Given the description of an element on the screen output the (x, y) to click on. 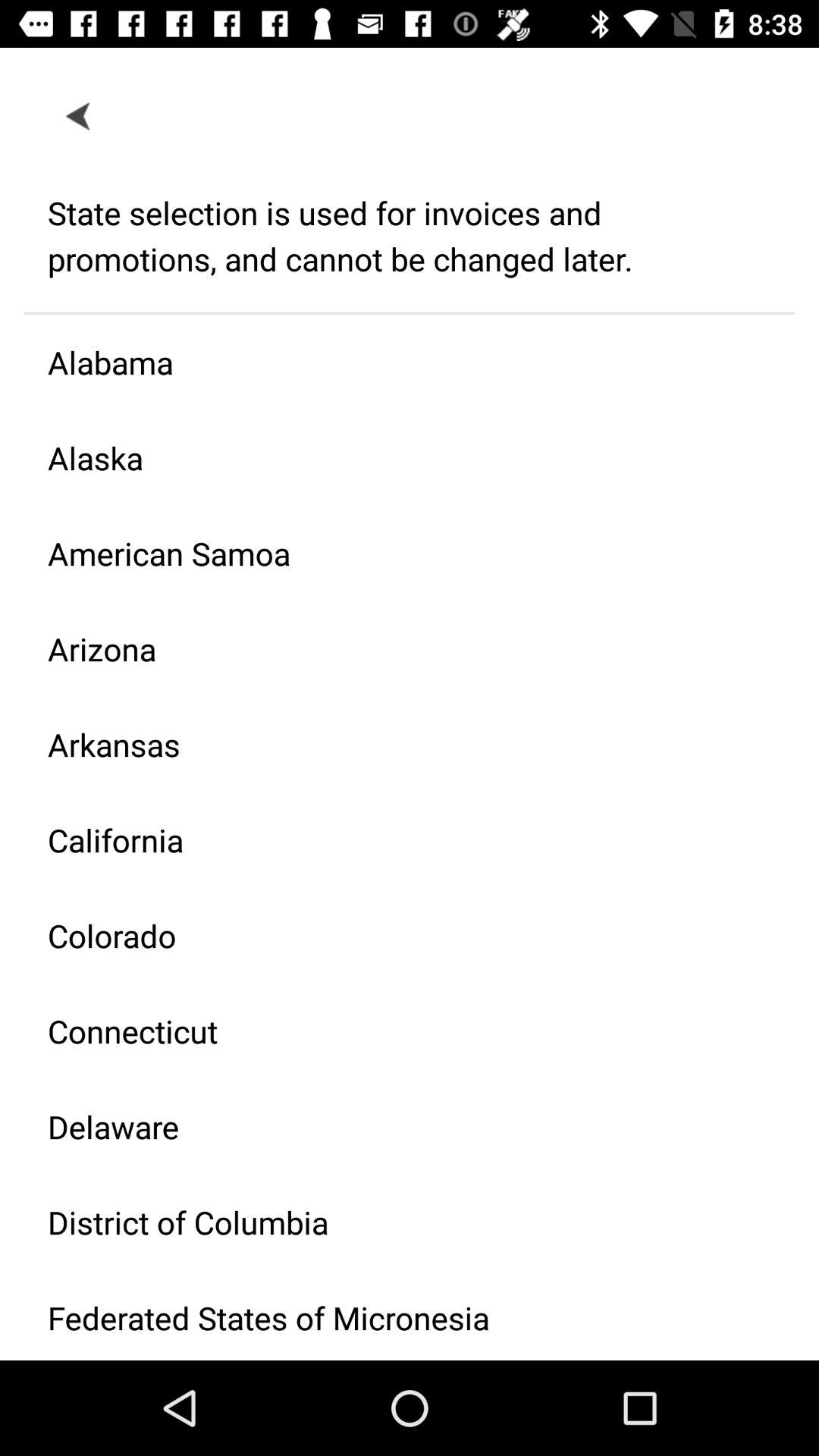
select the icon above arkansas item (397, 648)
